Given the description of an element on the screen output the (x, y) to click on. 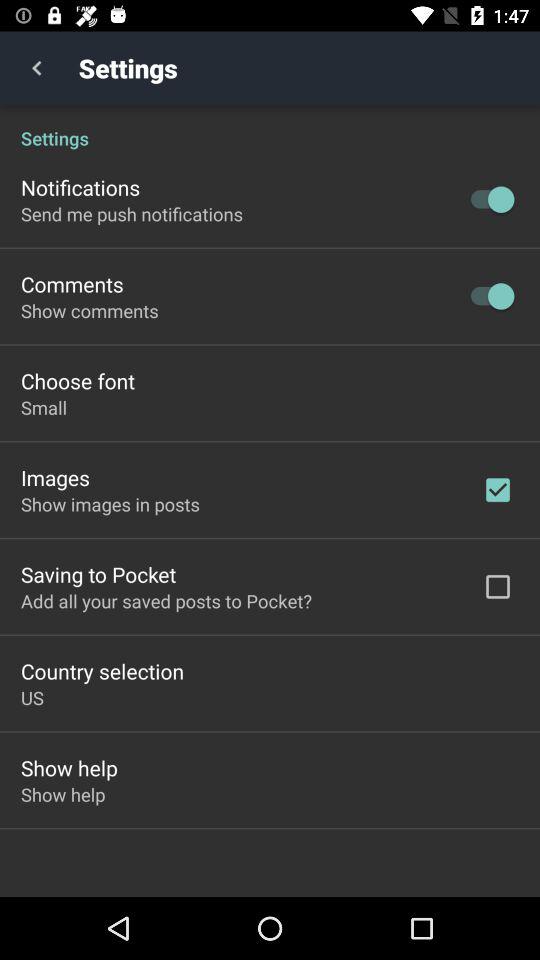
select item above the settings item (36, 68)
